Given the description of an element on the screen output the (x, y) to click on. 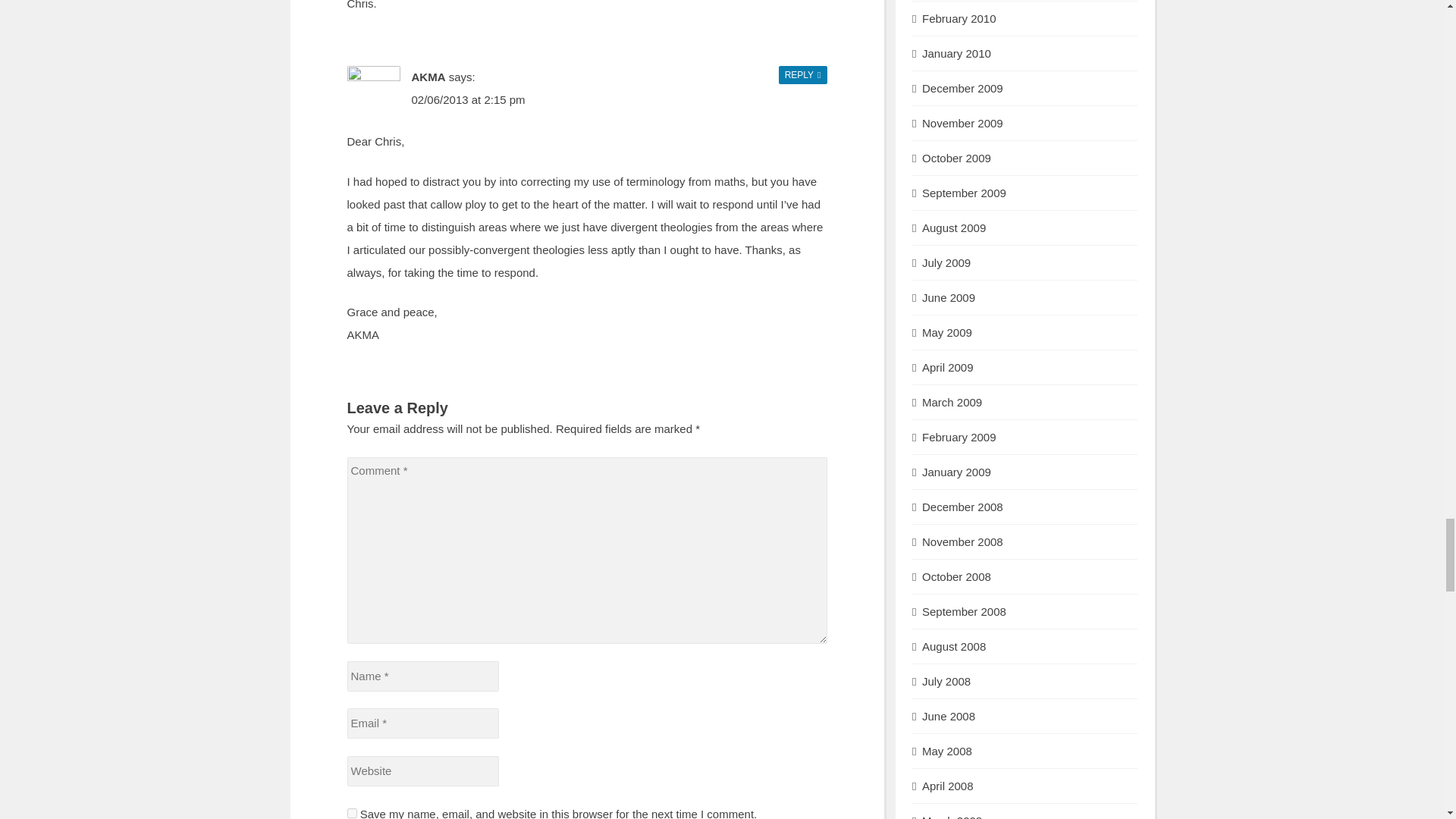
yes (351, 813)
REPLY (802, 73)
